Given the description of an element on the screen output the (x, y) to click on. 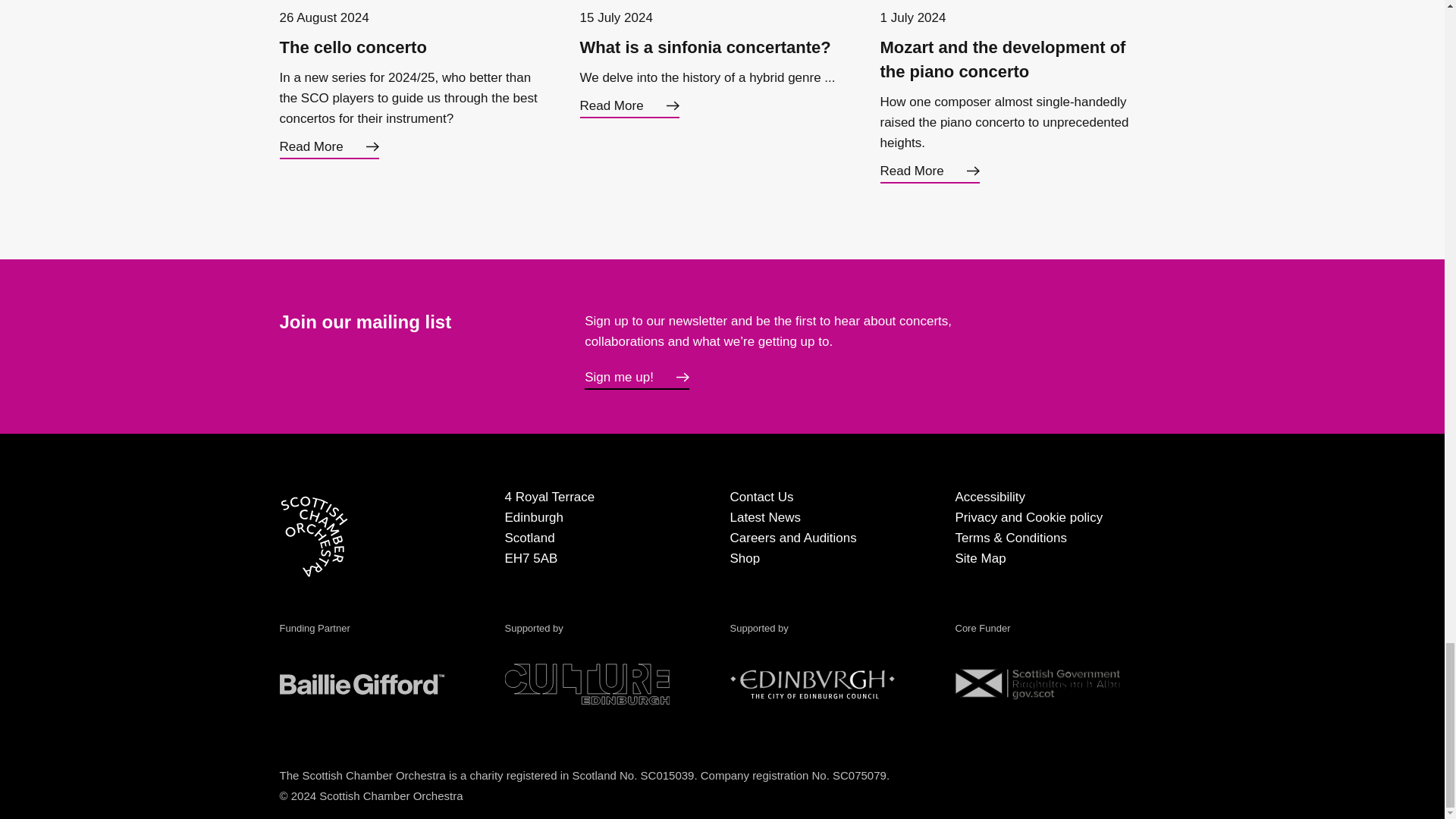
Privacy and Cookie policy (1029, 517)
Site Map (980, 558)
Accessibility (990, 496)
Latest News (764, 517)
Sign me up! (636, 377)
Shop (744, 558)
Careers and Auditions (792, 537)
Contact Us (761, 496)
